Given the description of an element on the screen output the (x, y) to click on. 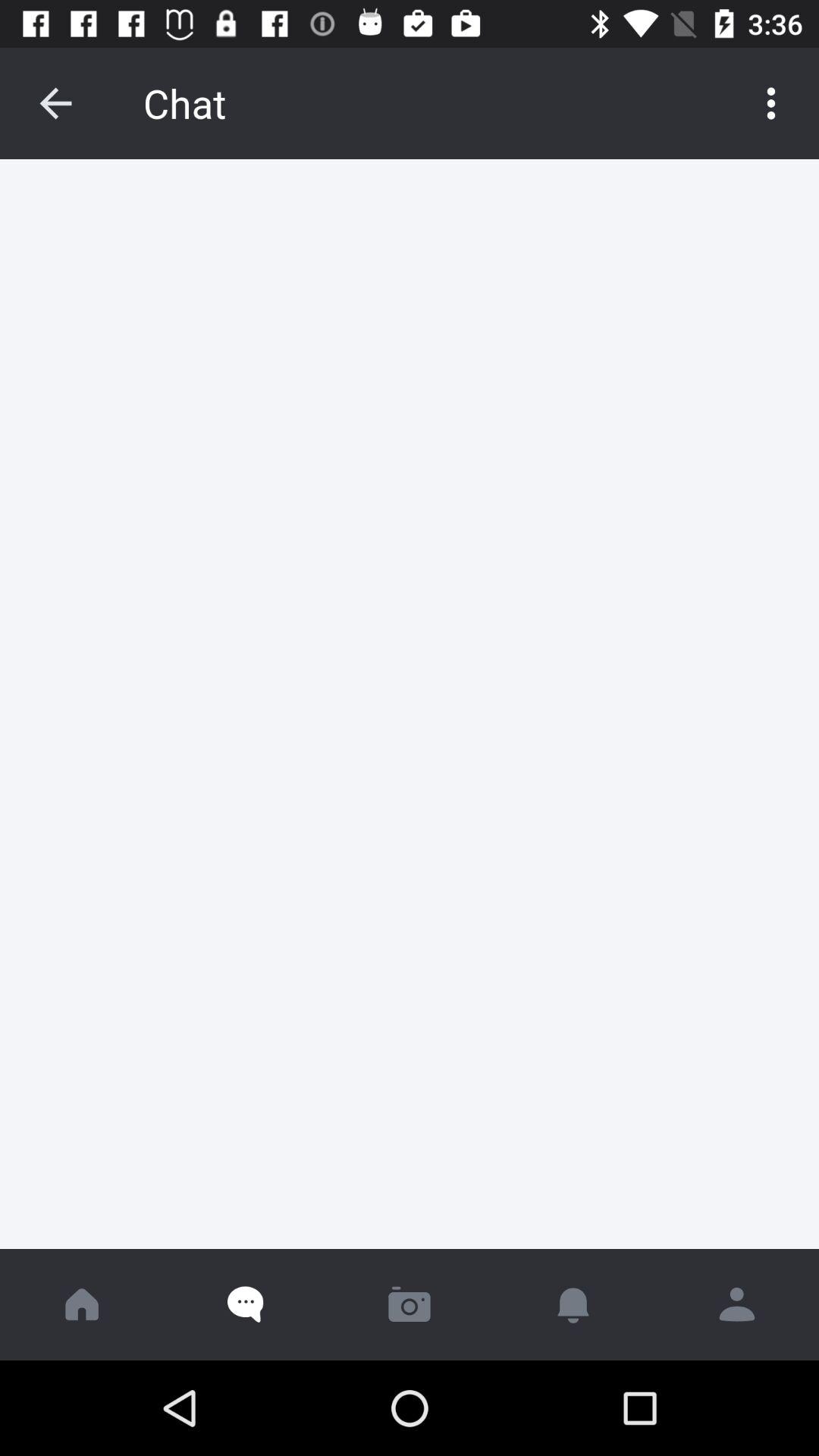
go to homepage (81, 1304)
